Given the description of an element on the screen output the (x, y) to click on. 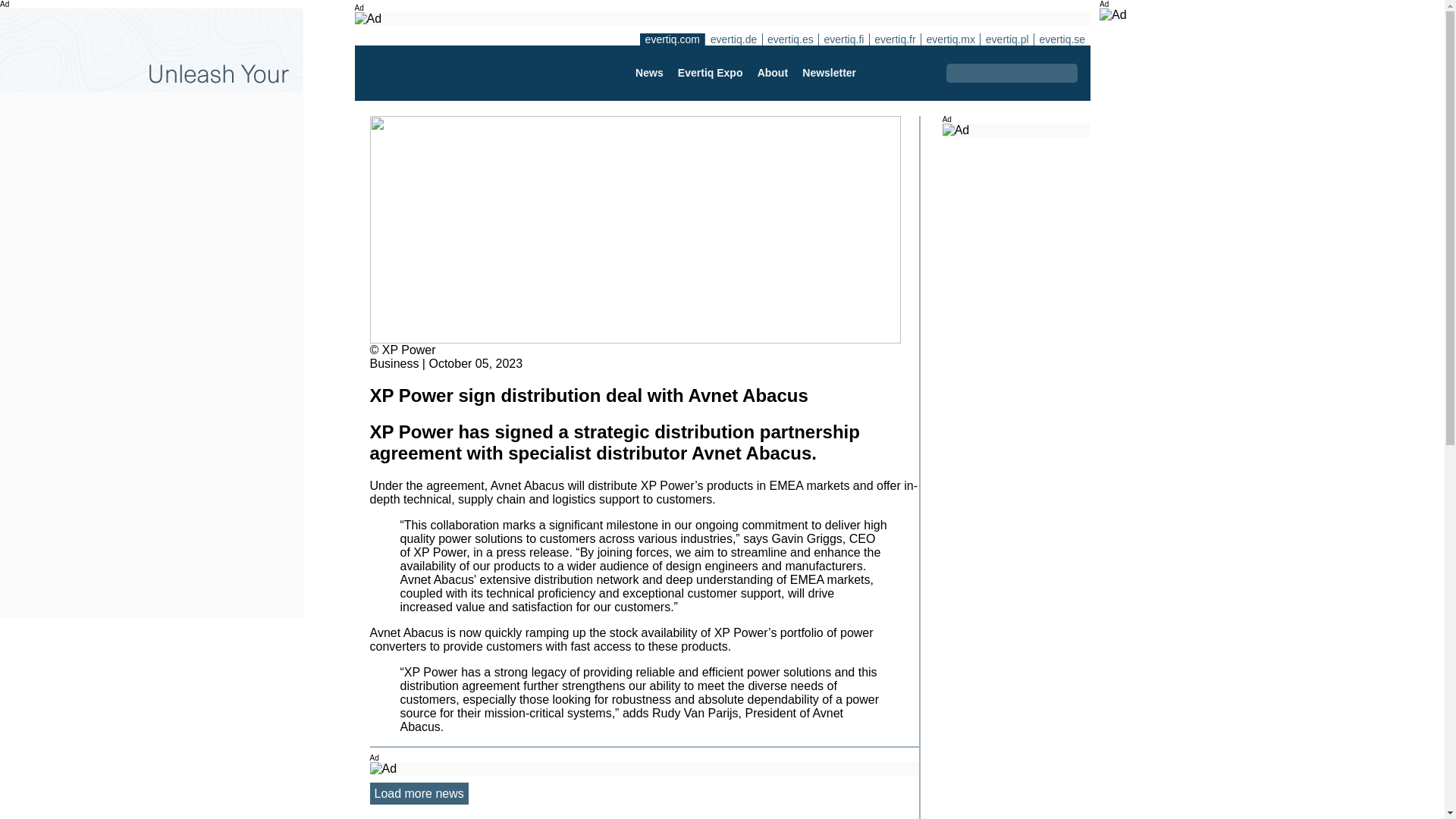
evertiq.fi (843, 39)
evertiq.es (789, 39)
evertiq.com (672, 39)
Evertiq AB (442, 72)
evertiq.fr (894, 39)
evertiq.se (1061, 39)
News (648, 72)
Evertiq Expo (709, 72)
evertiq.pl (1006, 39)
evertiq.de (732, 39)
